Given the description of an element on the screen output the (x, y) to click on. 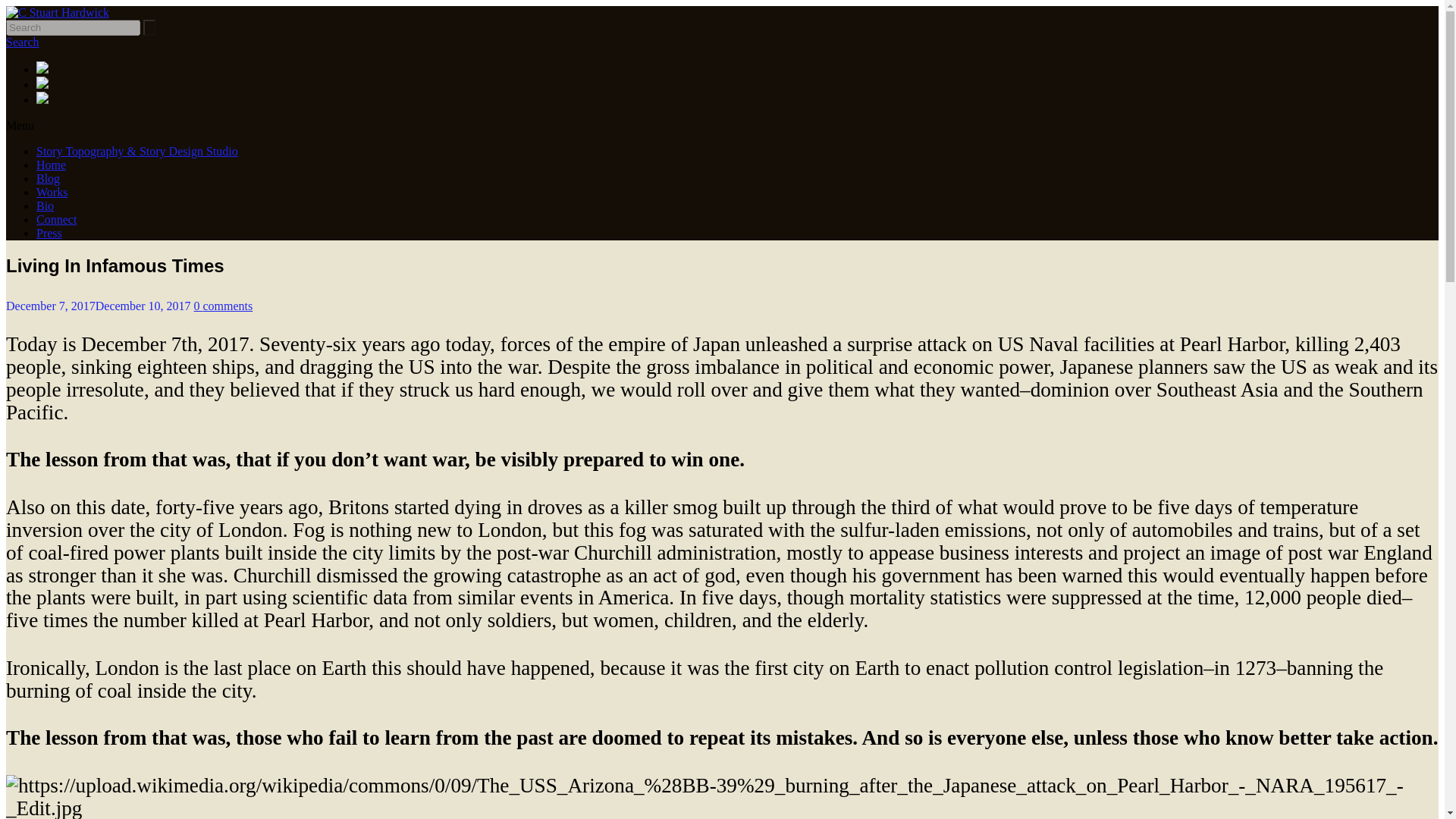
0 comments (222, 305)
Search (22, 42)
Press (49, 232)
Works (51, 192)
Bio (44, 205)
Connect (56, 219)
Home (50, 164)
Blog (47, 178)
